Given the description of an element on the screen output the (x, y) to click on. 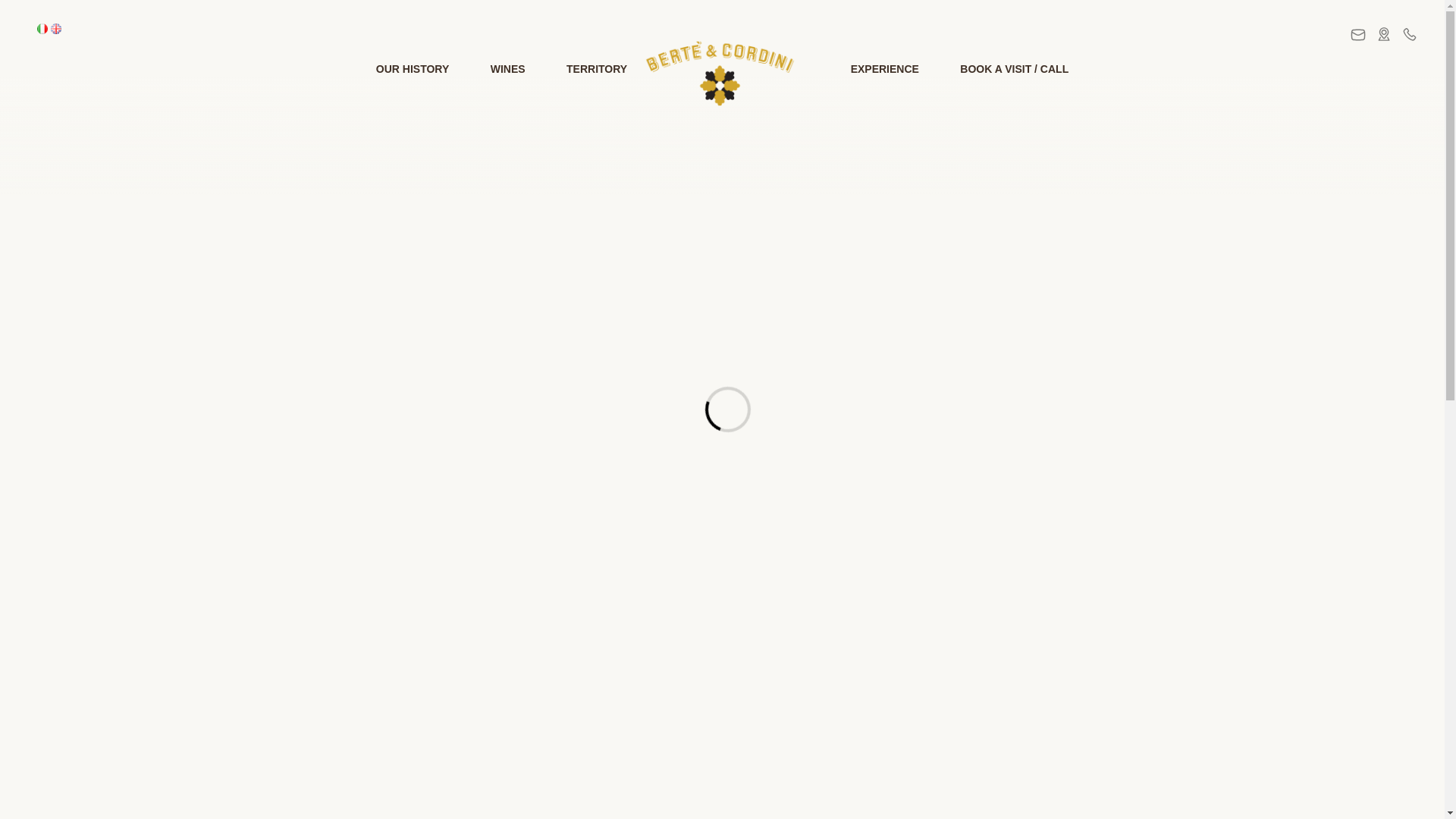
OUR HISTORY (412, 69)
EXPERIENCE (885, 69)
TERRITORY (596, 69)
WINES (508, 69)
